Given the description of an element on the screen output the (x, y) to click on. 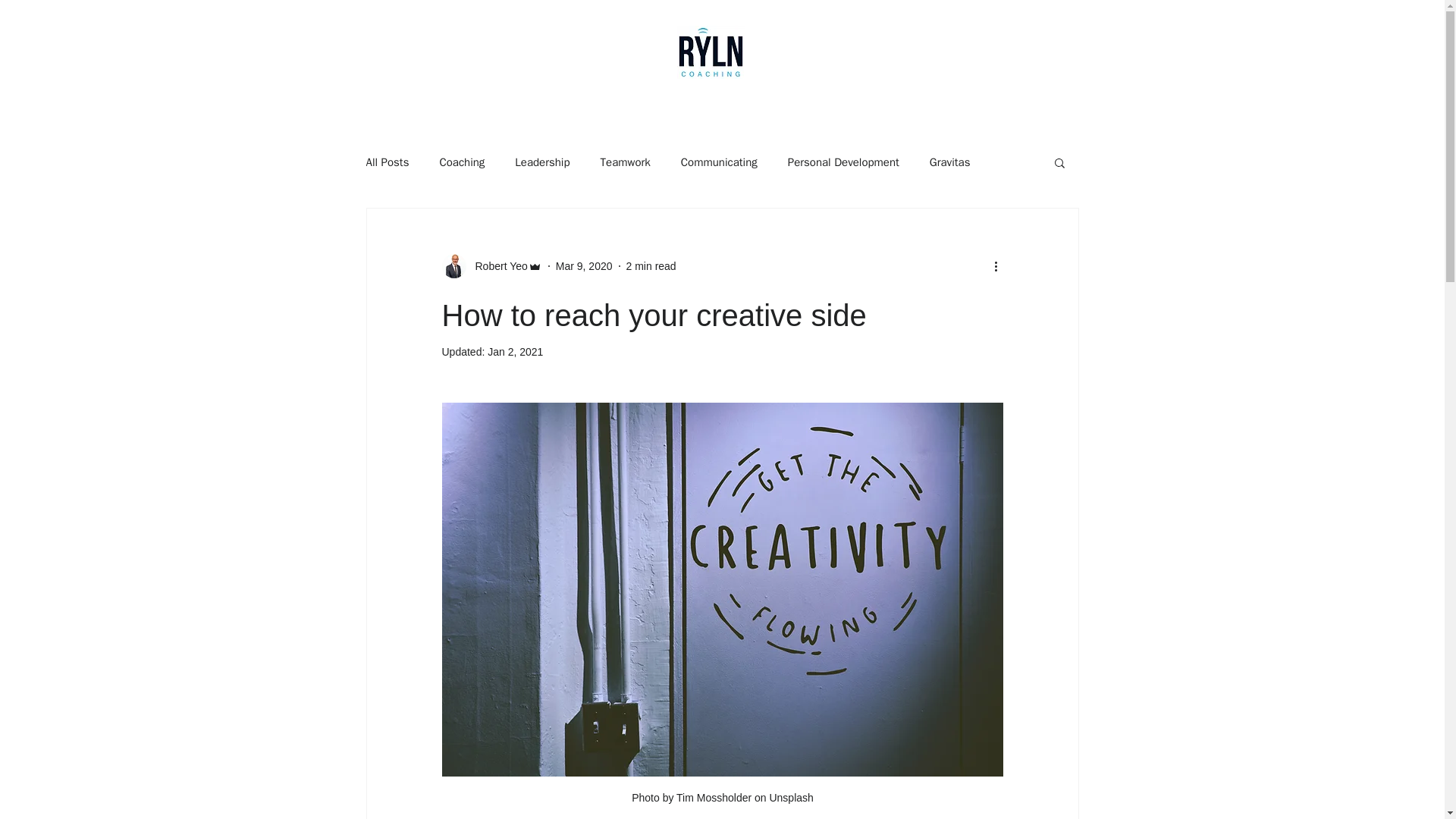
All Posts (387, 161)
Coaching (461, 161)
Teamwork (624, 161)
Robert Yeo (491, 265)
Robert Yeo (496, 265)
Mar 9, 2020 (584, 265)
logo ryln jpg.jpg (710, 51)
Jan 2, 2021 (515, 351)
Gravitas (950, 161)
Communicating (719, 161)
2 min read (651, 265)
Personal Development (843, 161)
Leadership (542, 161)
